Given the description of an element on the screen output the (x, y) to click on. 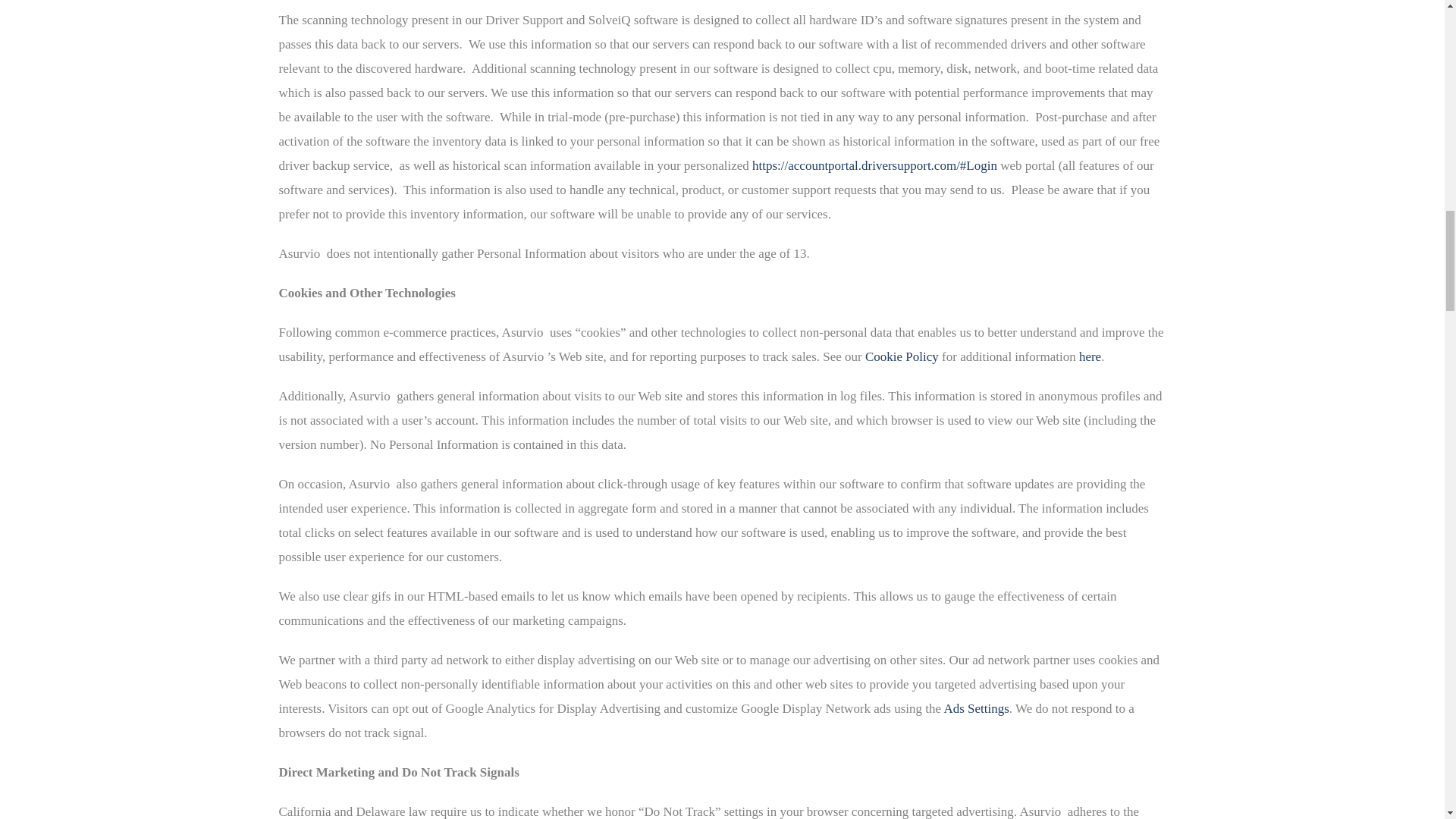
Cookie Policy (901, 356)
Ads Settings (976, 708)
here (1089, 356)
